Given the description of an element on the screen output the (x, y) to click on. 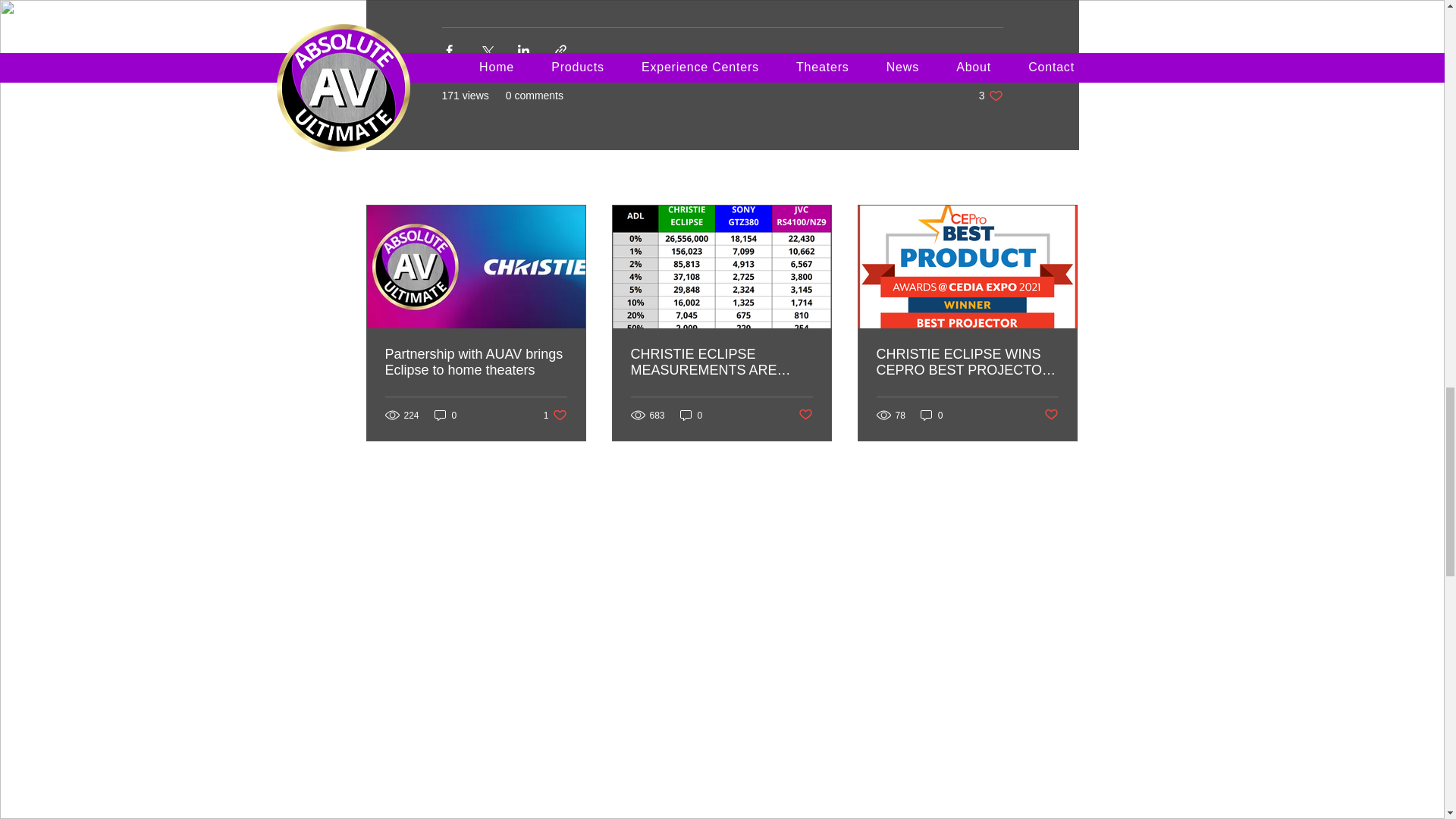
Partnership with AUAV brings Eclipse to home theaters (990, 95)
CHRISTIE ECLIPSE WINS CEPRO BEST PROJECTOR AWARD (476, 362)
0 (967, 362)
Post not marked as liked (931, 414)
Post not marked as liked (1050, 415)
0 (804, 415)
0 (555, 414)
